Given the description of an element on the screen output the (x, y) to click on. 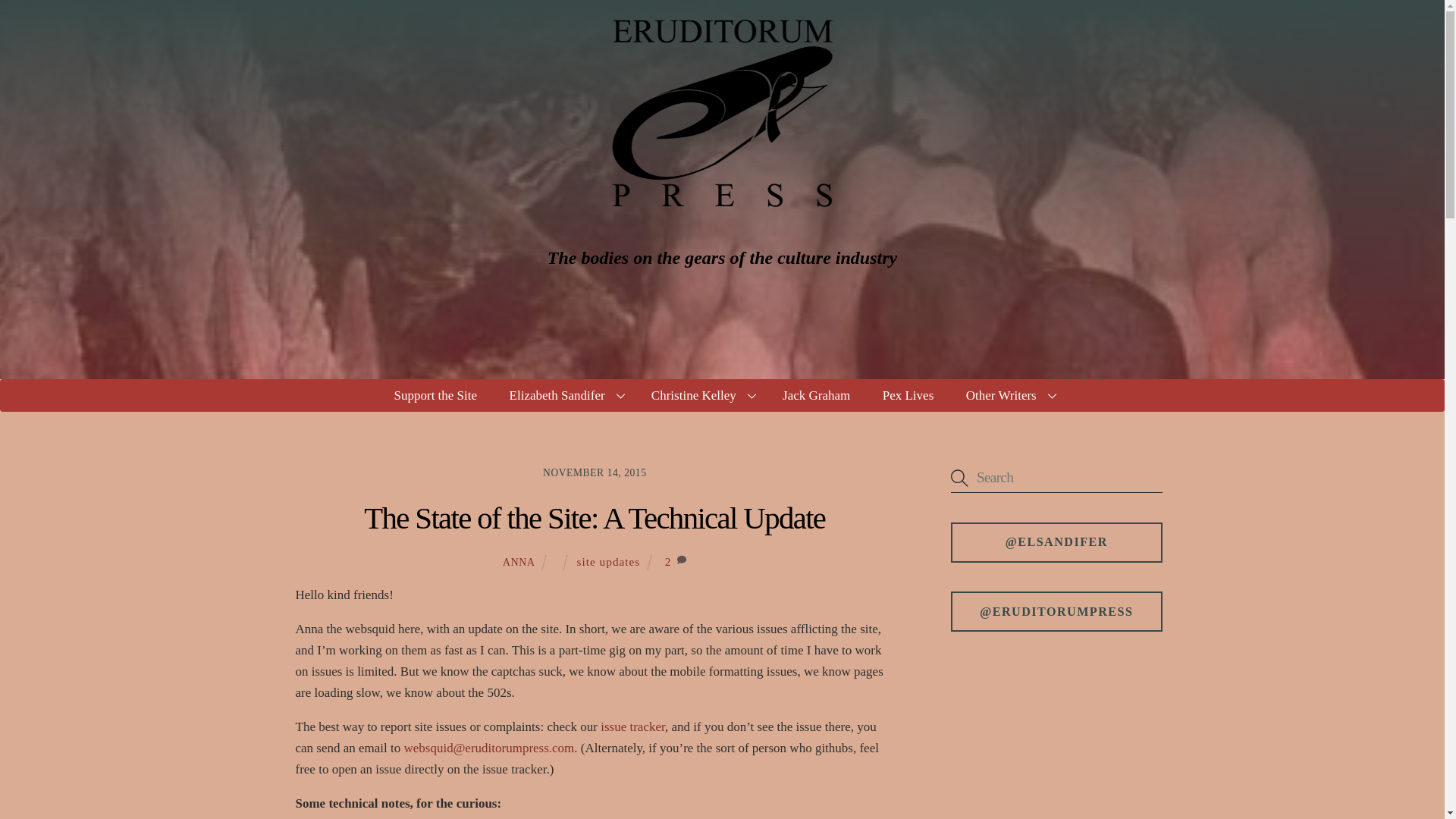
Jack Graham (816, 395)
ANNA (518, 562)
site updates (608, 561)
Pex Lives (907, 395)
Other Writers (1008, 395)
Elizabeth Sandifer (563, 395)
Search (1055, 477)
2 (668, 561)
Support the Site (435, 395)
Christine Kelley (700, 395)
The State of the Site: A Technical Update (594, 518)
issue tracker (632, 726)
